Given the description of an element on the screen output the (x, y) to click on. 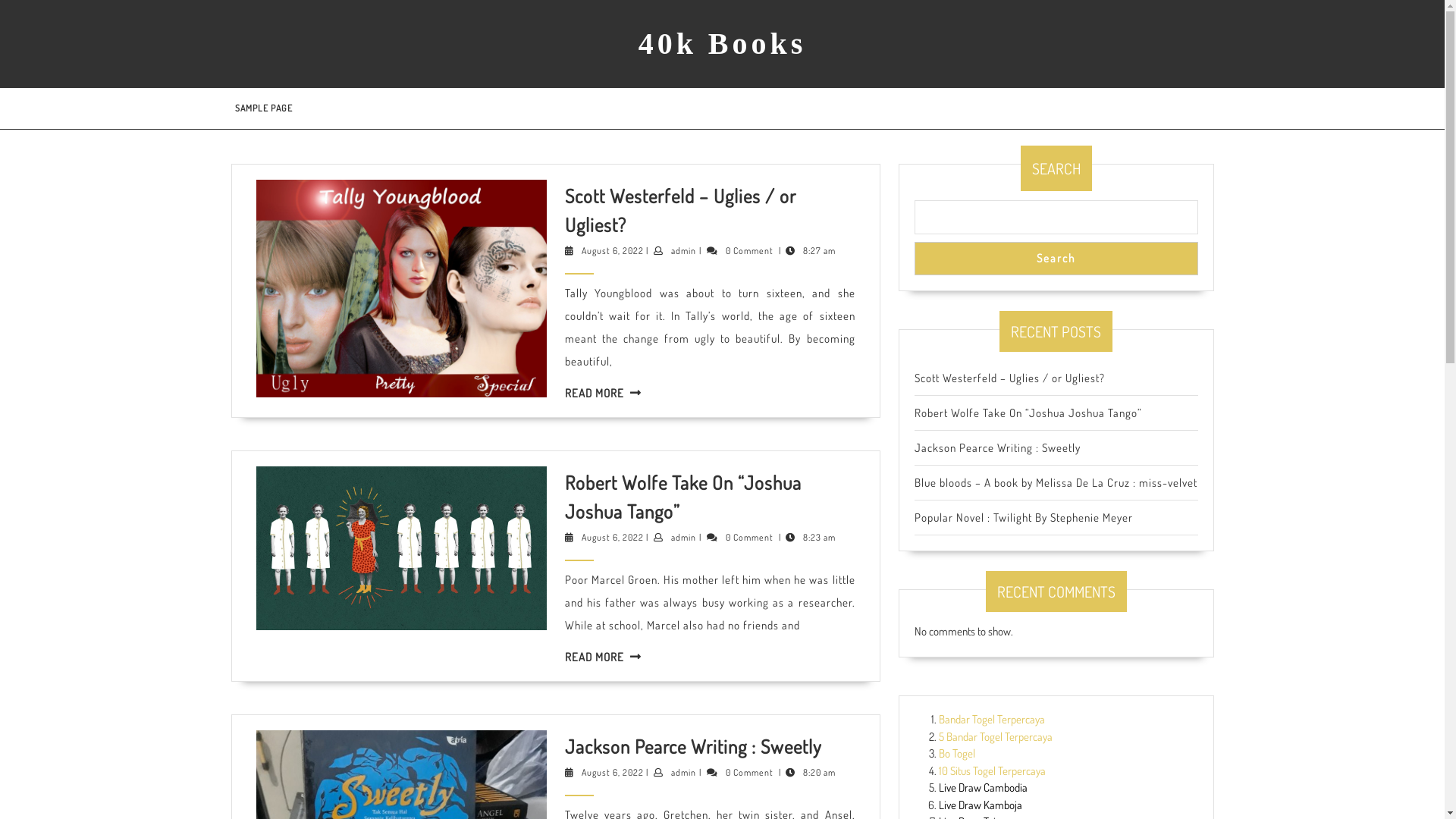
August 6, 2022
August 6, 2022 Element type: text (611, 536)
Bo Togel Element type: text (956, 753)
Popular Novel : Twilight By Stephenie Meyer Element type: text (1023, 517)
August 6, 2022
August 6, 2022 Element type: text (611, 772)
admin
admin Element type: text (683, 772)
Bandar Togel Terpercaya Element type: text (991, 719)
READ MORE
READ MORE Element type: text (593, 392)
5 Bandar Togel Terpercaya Element type: text (995, 736)
Jackson Pearce Writing : Sweetly Element type: text (997, 447)
SAMPLE PAGE Element type: text (262, 107)
10 Situs Togel Terpercaya Element type: text (991, 769)
Live Draw Kamboja Element type: text (980, 804)
admin
admin Element type: text (683, 536)
August 6, 2022
August 6, 2022 Element type: text (611, 250)
Live Draw Cambodia Element type: text (982, 787)
Search Element type: text (1056, 258)
40k Books Element type: text (722, 43)
admin
admin Element type: text (683, 250)
READ MORE
READ MORE Element type: text (593, 656)
